Given the description of an element on the screen output the (x, y) to click on. 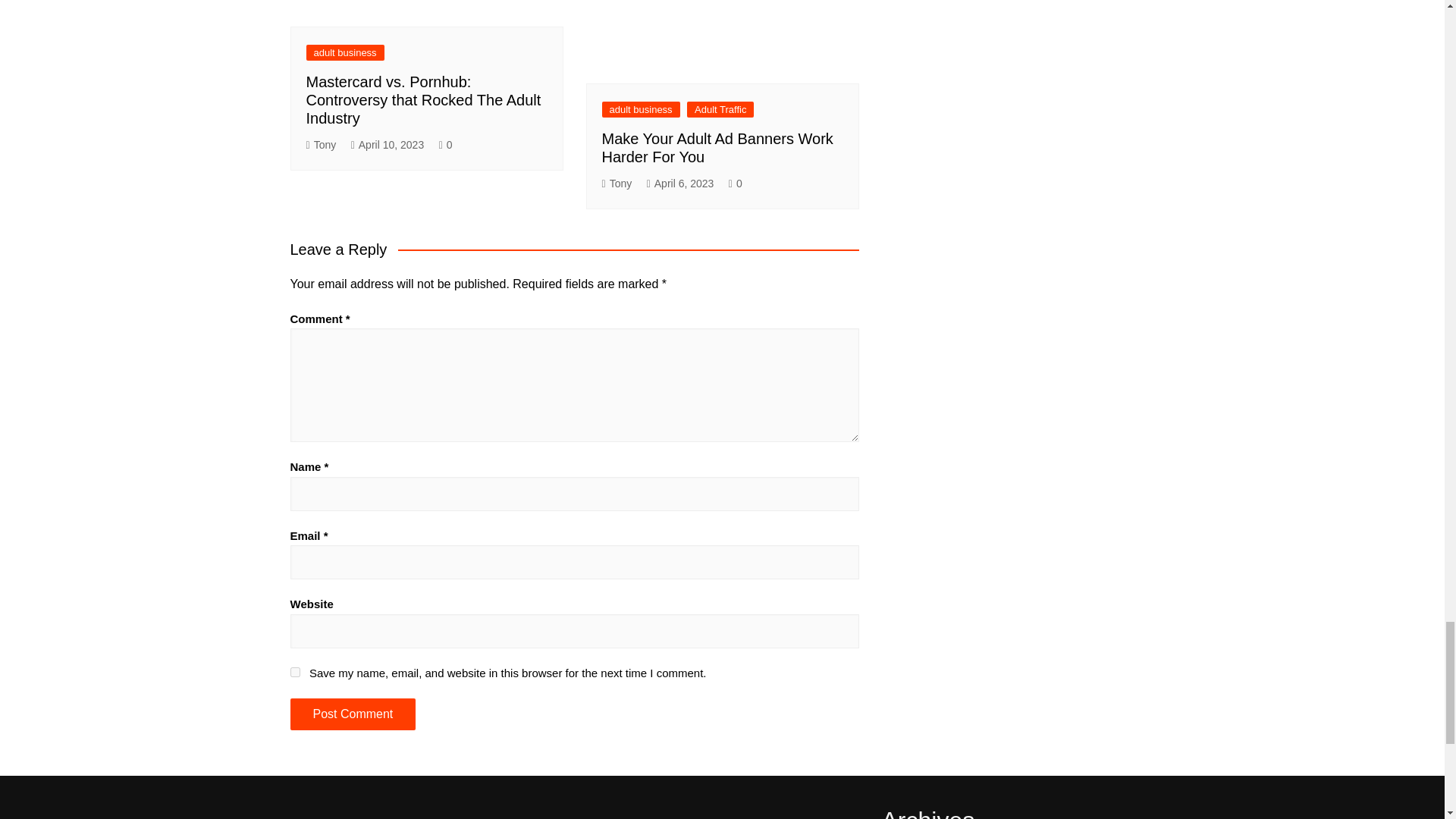
yes (294, 672)
Post Comment (351, 713)
